Given the description of an element on the screen output the (x, y) to click on. 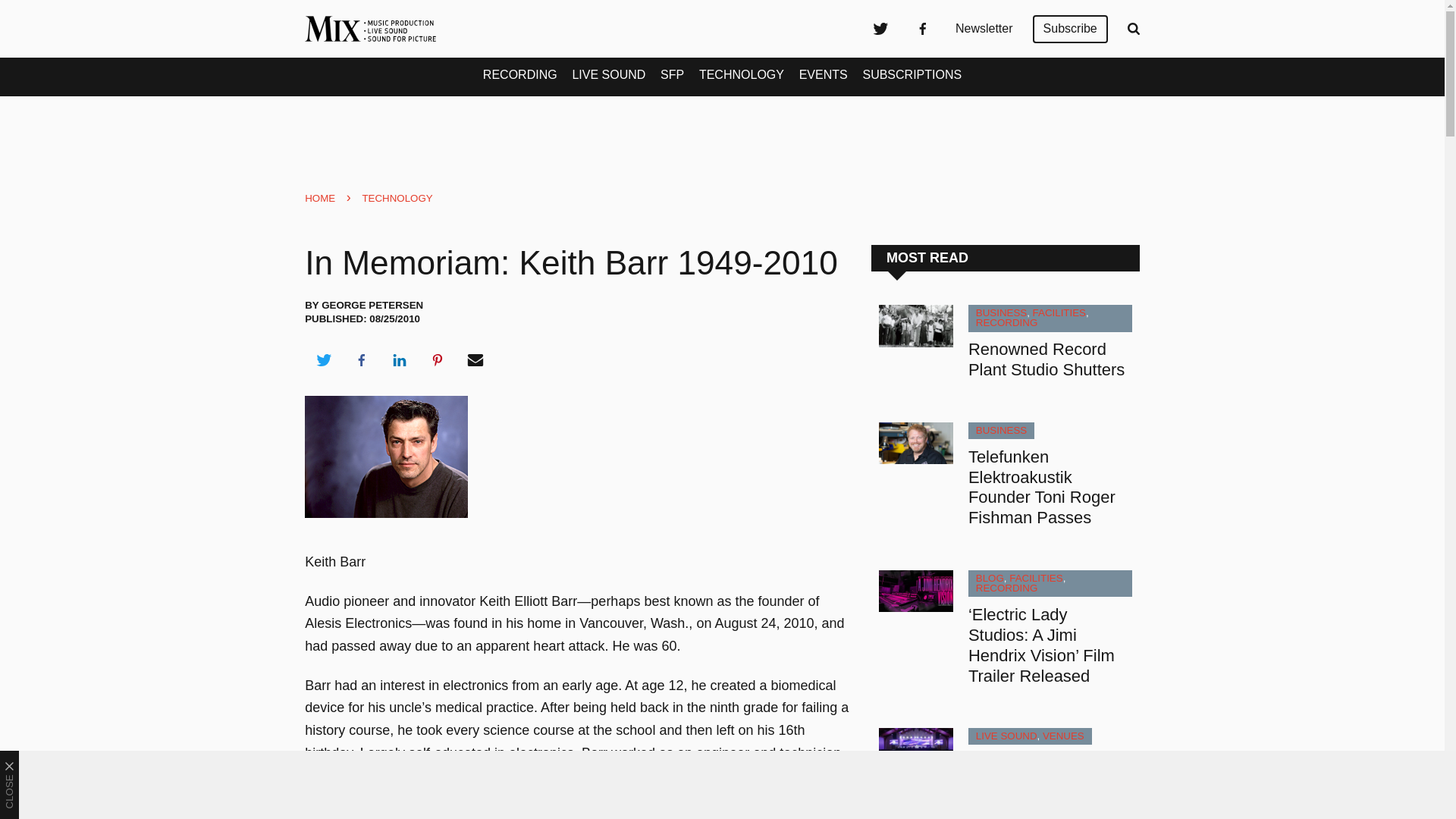
Share on Twitter (323, 360)
Share on LinkedIn (399, 360)
Share on Pinterest (438, 360)
Share via Email (476, 360)
Share on Facebook (361, 360)
